Given the description of an element on the screen output the (x, y) to click on. 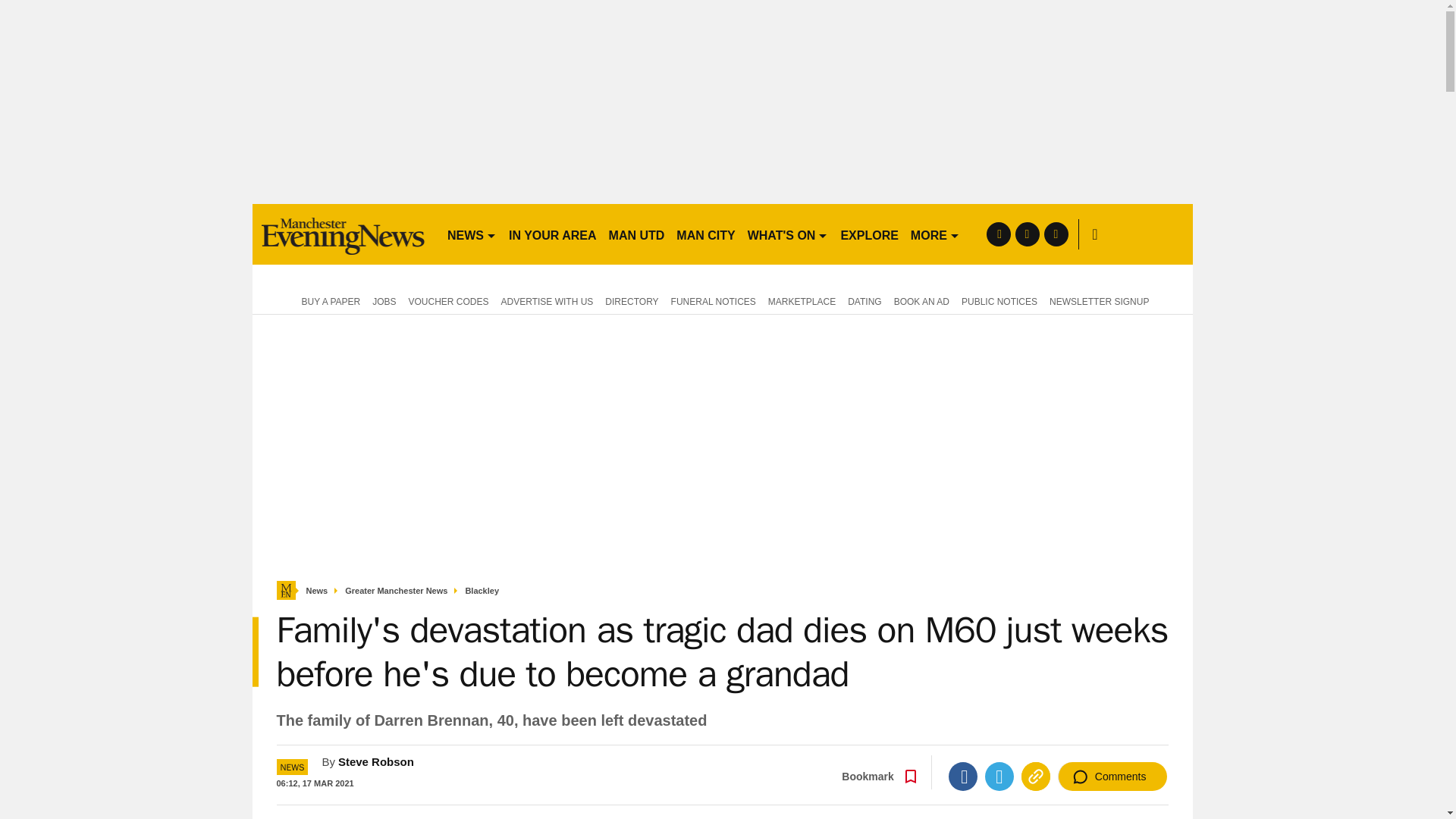
Twitter (999, 776)
NEWS (471, 233)
Facebook (962, 776)
Comments (1112, 776)
MAN UTD (636, 233)
WHAT'S ON (787, 233)
MAN CITY (705, 233)
IN YOUR AREA (552, 233)
twitter (1026, 233)
instagram (1055, 233)
